Given the description of an element on the screen output the (x, y) to click on. 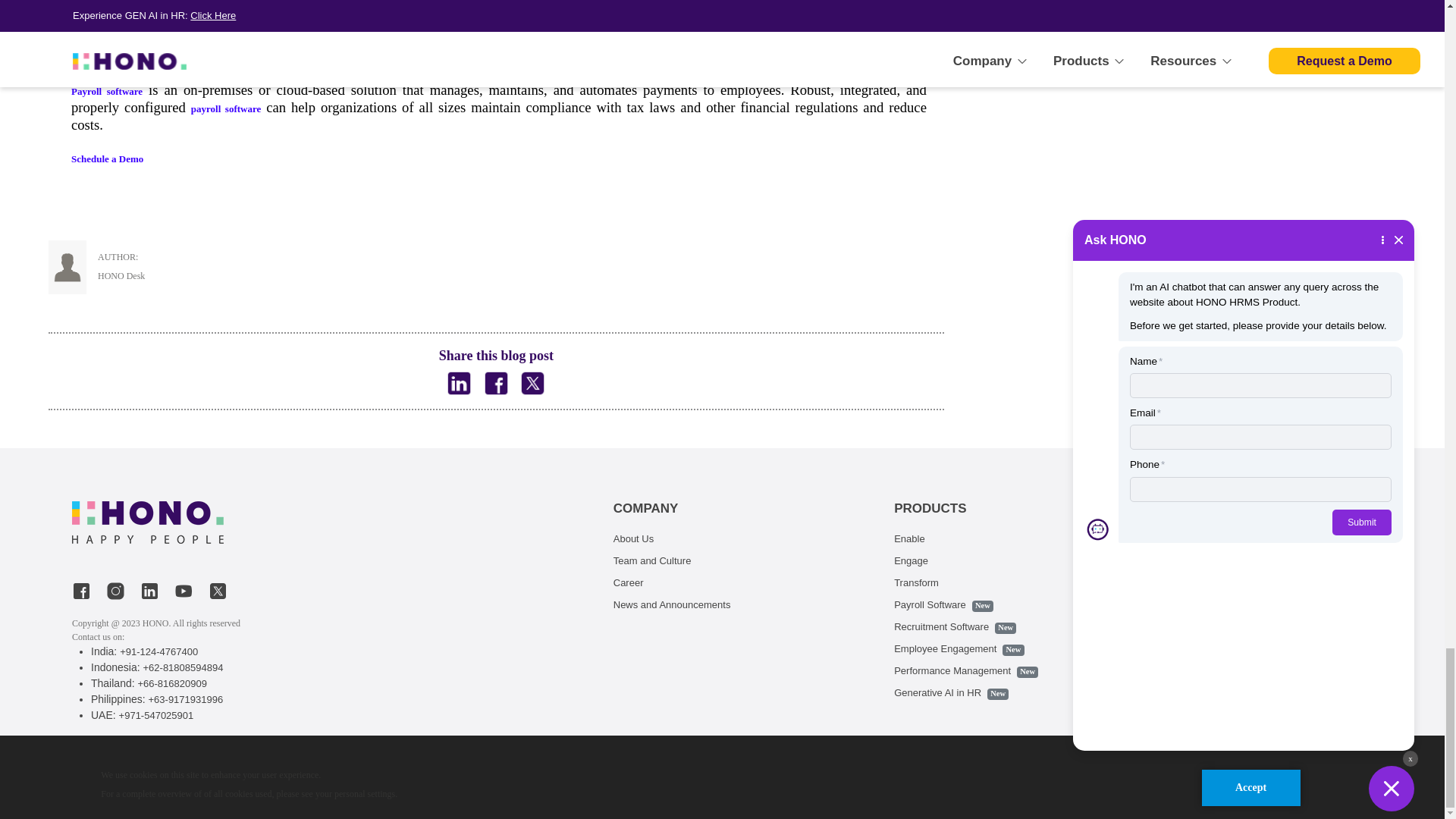
Schedule a Demo (106, 158)
Payroll software (106, 91)
payroll software (225, 108)
